Given the description of an element on the screen output the (x, y) to click on. 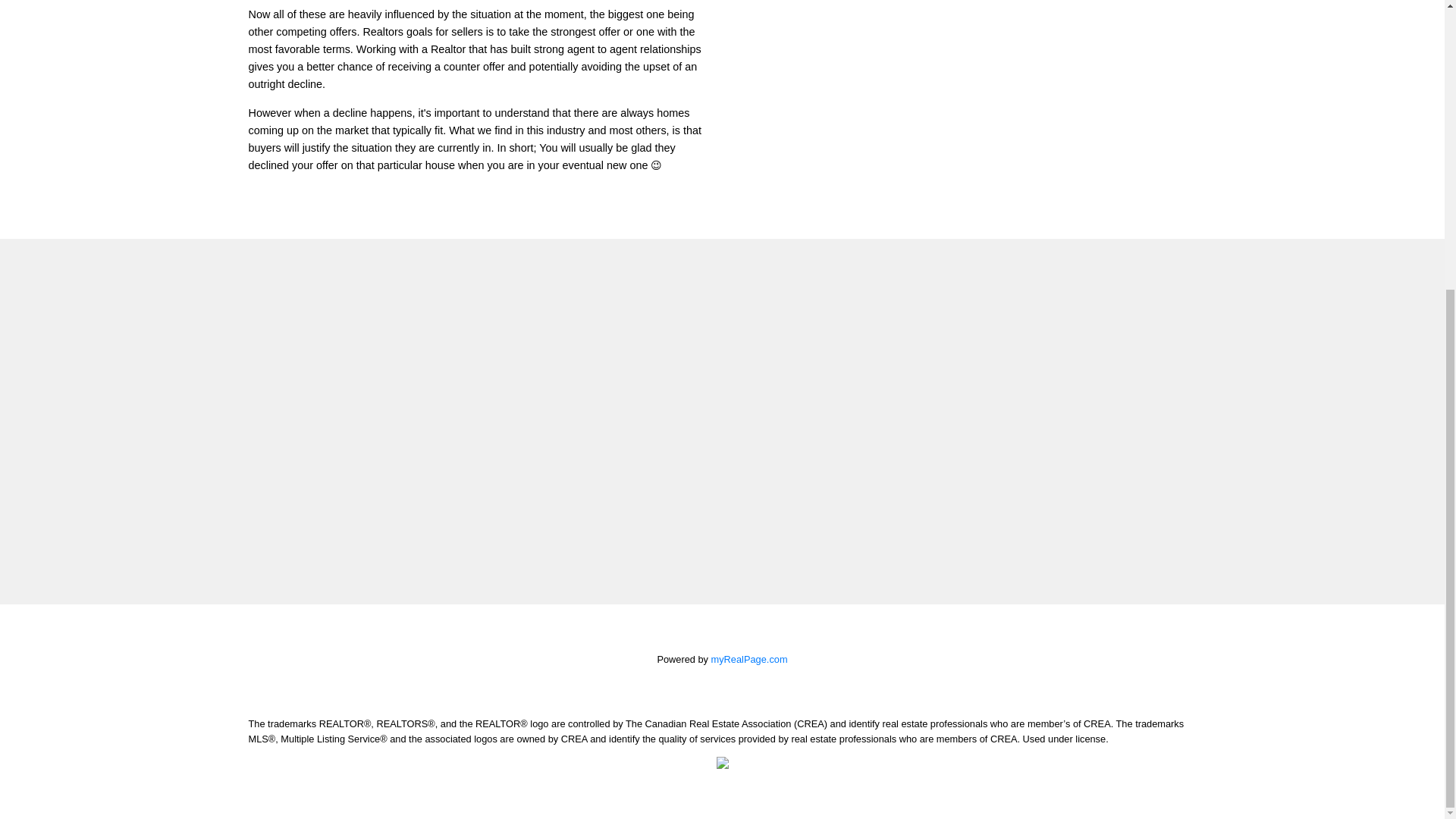
myRealPage.com (749, 659)
